Given the description of an element on the screen output the (x, y) to click on. 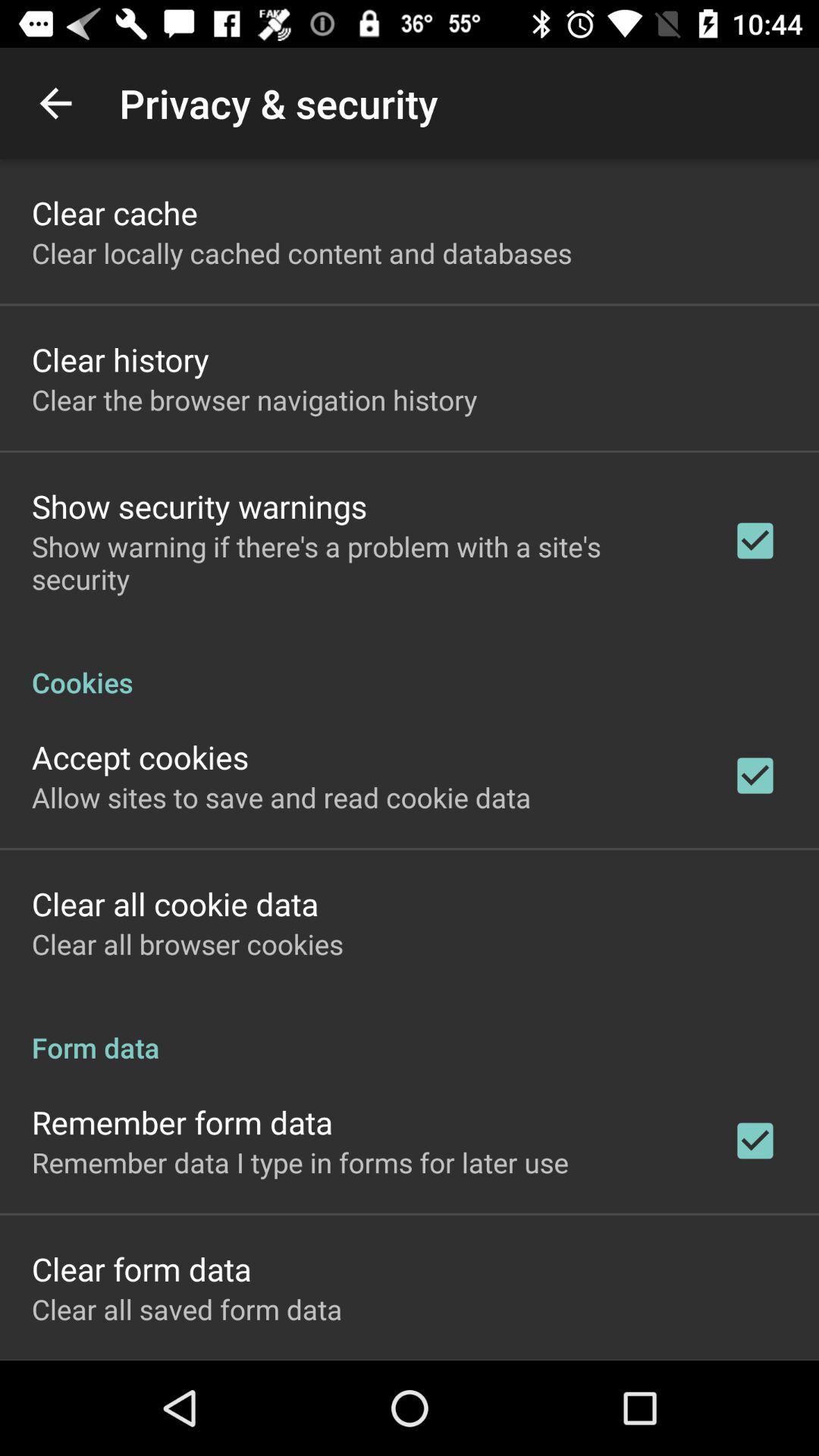
turn on the item above clear history item (301, 252)
